Given the description of an element on the screen output the (x, y) to click on. 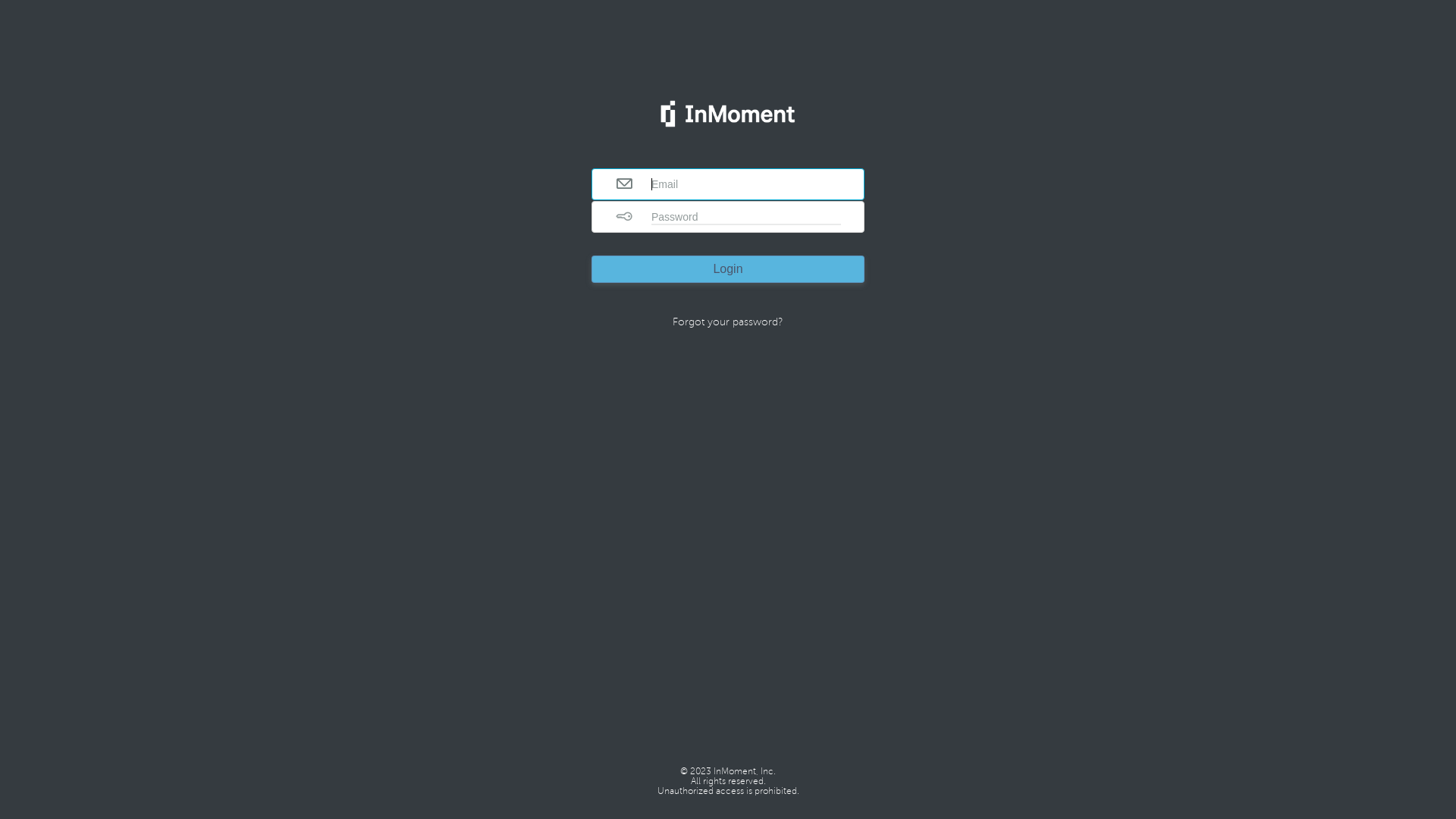
Forgot your password? Element type: text (727, 321)
Login Element type: text (727, 268)
